Given the description of an element on the screen output the (x, y) to click on. 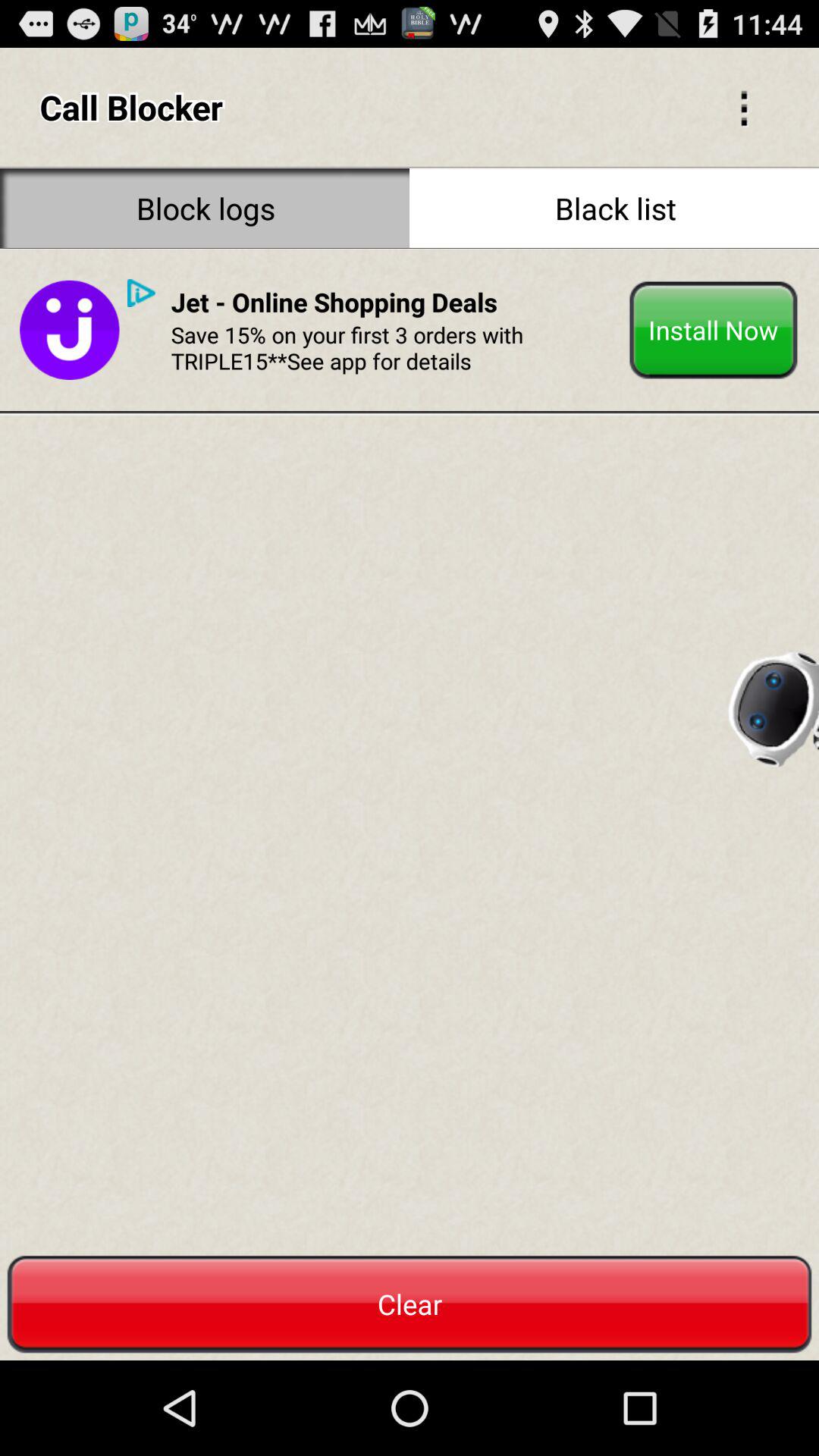
select the button next to install now icon (334, 301)
